Given the description of an element on the screen output the (x, y) to click on. 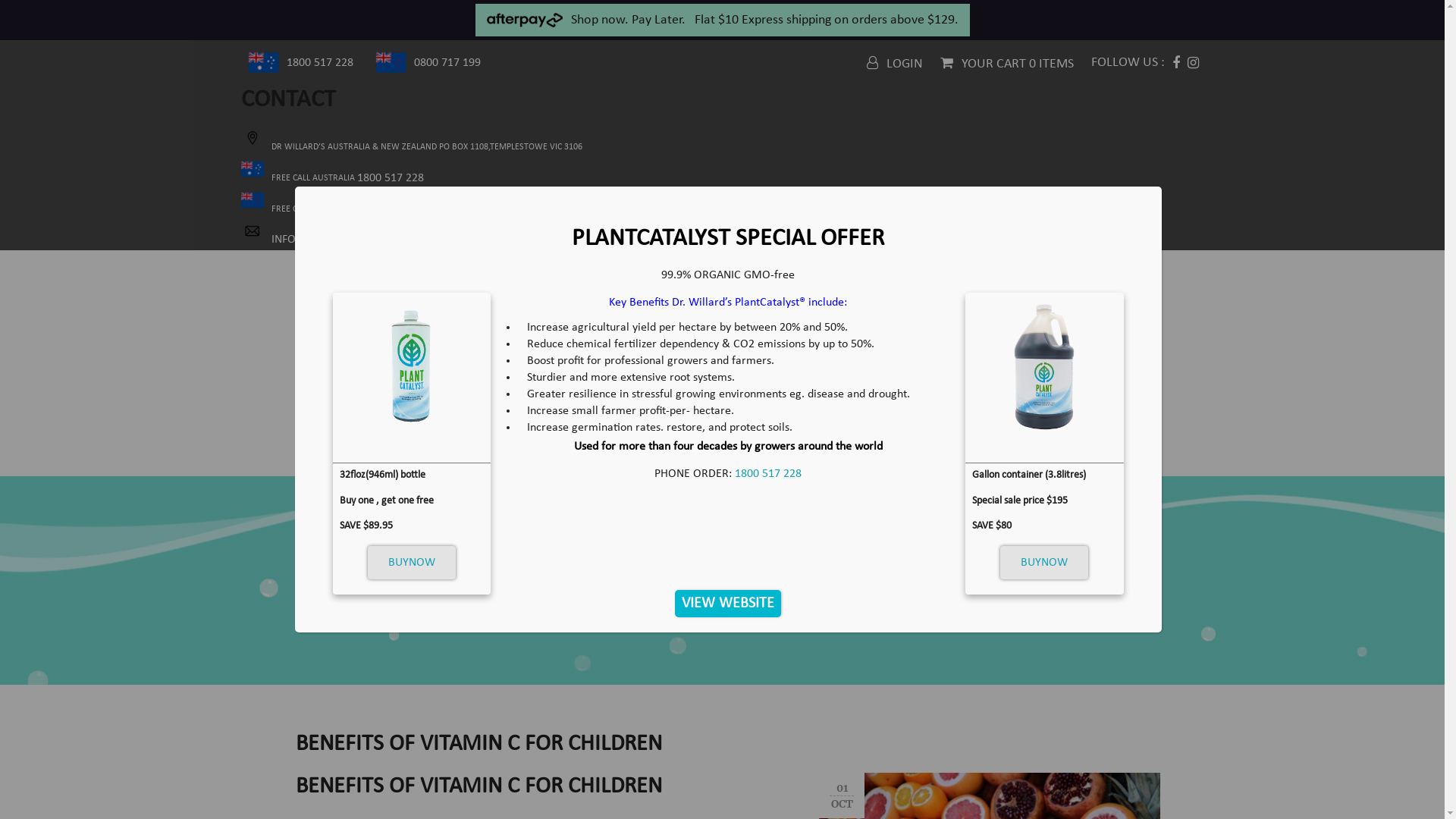
PLANT CATALYST Element type: text (890, 448)
SHOP Element type: text (685, 448)
0800 717 199 Element type: text (447, 62)
BLOG Element type: text (1113, 448)
1800 517 228 Element type: text (767, 473)
Dr. Willard's Element type: hover (727, 339)
1800 517 228 Element type: text (319, 62)
HELPFUL FACTS Element type: text (594, 448)
TYPICAL USES Element type: text (771, 448)
YOUR CART 0 ITEMS Element type: text (1006, 63)
ASK DR WILLARD Element type: text (1017, 448)
INFO@DRWILLARD.COM.AU Element type: text (326, 239)
LOGIN Element type: text (894, 63)
HOME Element type: text (345, 448)
VIEW WEBSITE Element type: text (727, 603)
1800 517 228 Element type: text (389, 178)
BUYNOW Element type: text (411, 562)
BUYNOW Element type: text (1044, 562)
0800 717 199 Element type: text (403, 209)
